Given the description of an element on the screen output the (x, y) to click on. 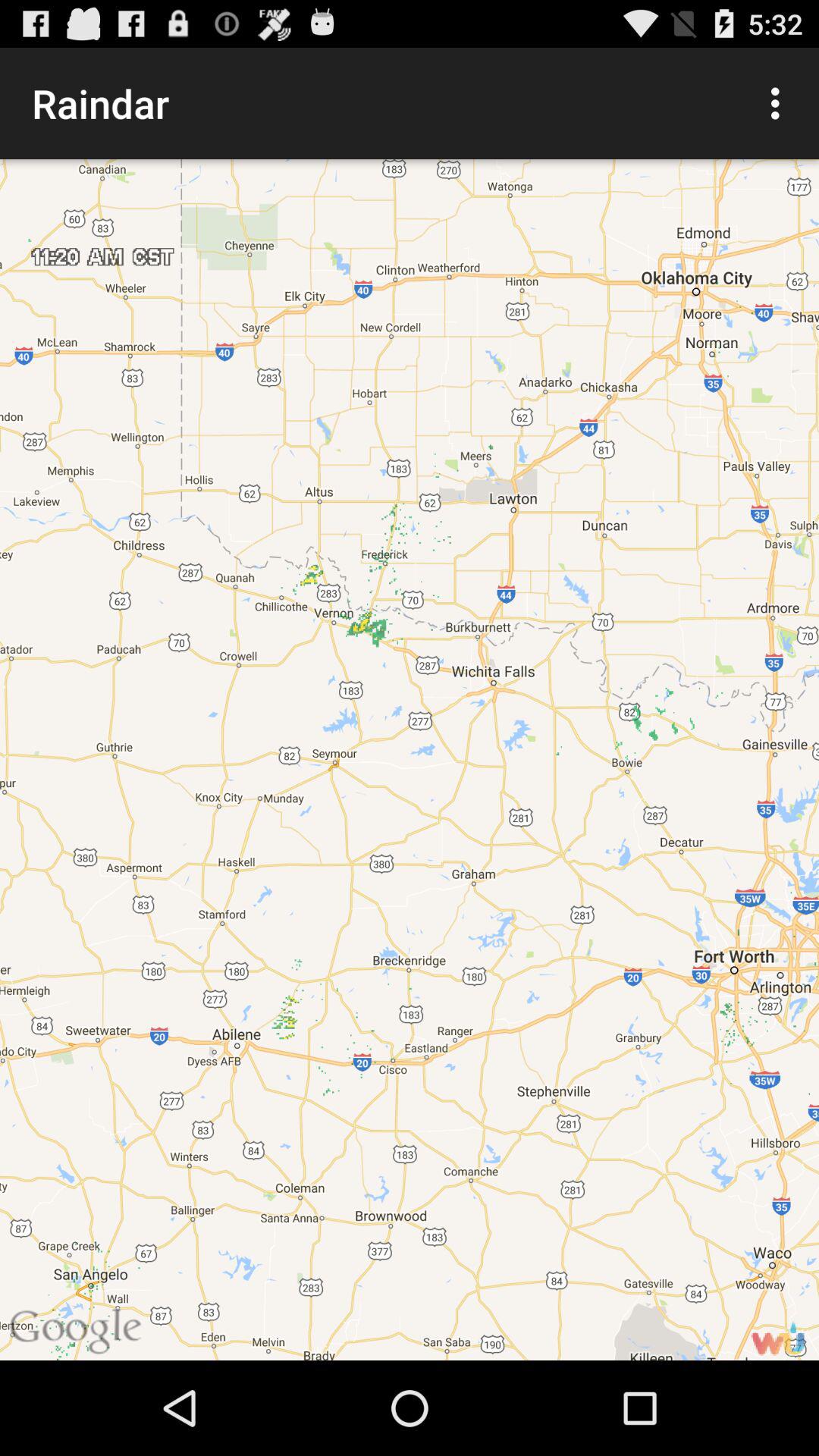
open the app to the right of raindar icon (779, 103)
